Given the description of an element on the screen output the (x, y) to click on. 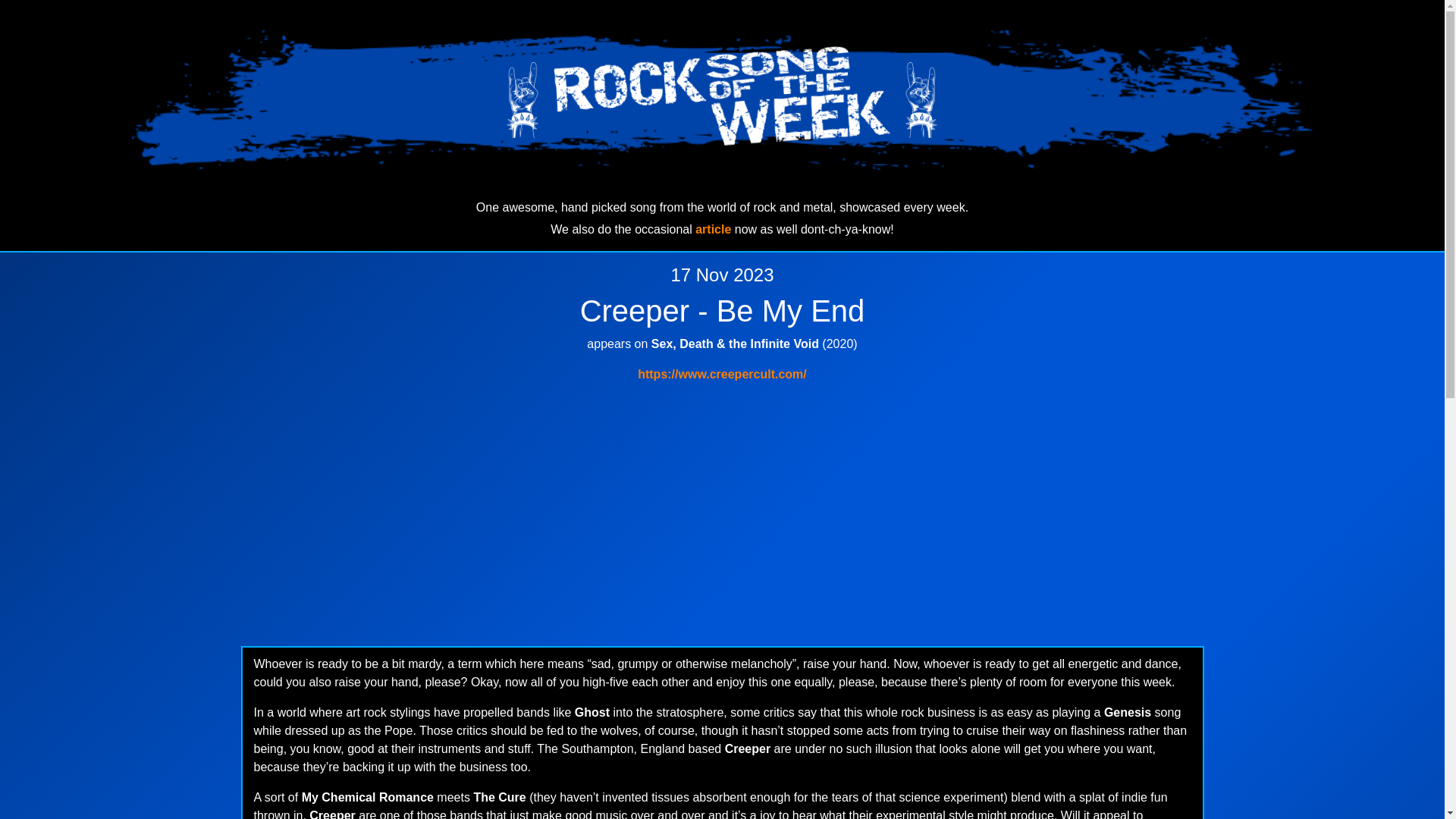
article (712, 228)
